Given the description of an element on the screen output the (x, y) to click on. 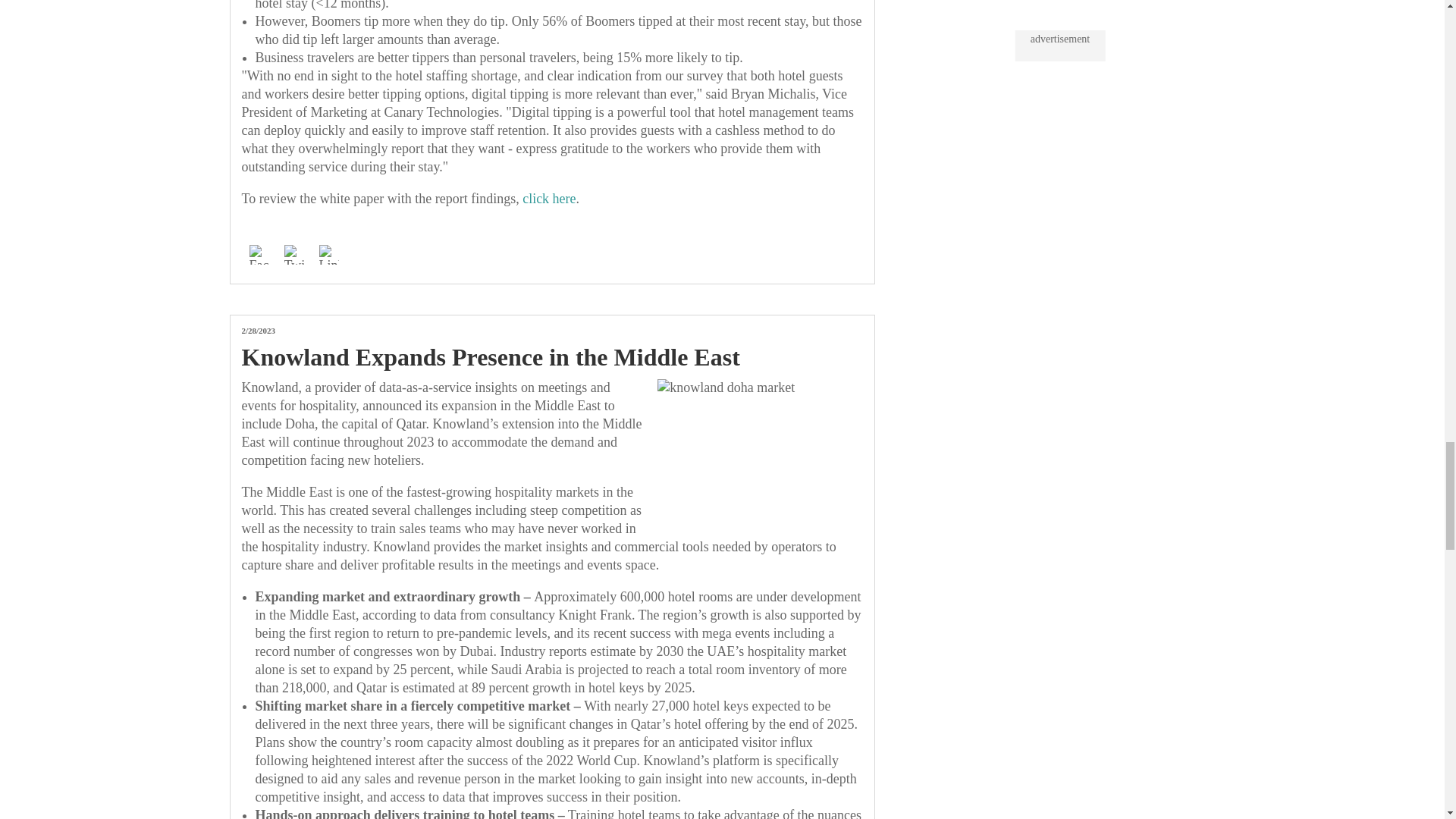
click here (548, 198)
